Given the description of an element on the screen output the (x, y) to click on. 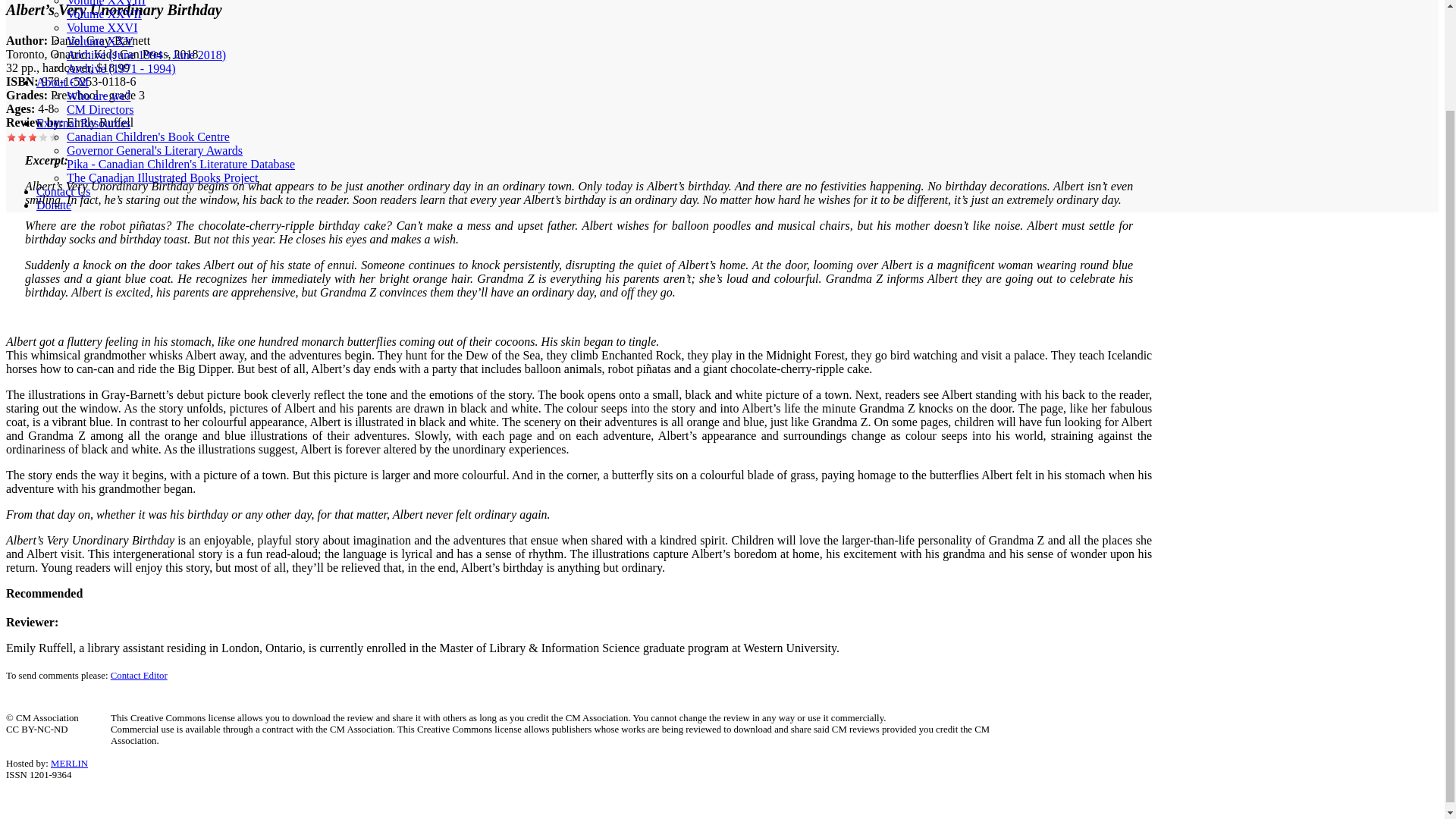
The Canadian Illustrated Books Project (161, 177)
CM Directors (99, 109)
Contact Editor (138, 675)
MERLIN (68, 763)
Governor General's Literary Awards (154, 150)
Contact Us (63, 191)
External Resources (83, 123)
CM archive from 1994 to 2018 (145, 54)
Donate (53, 205)
Volume XXVII (103, 13)
Old CM archive from 1971 to June 1994 (121, 68)
Who are we? (98, 95)
About CM (62, 82)
Pika - Canadian Children's Literature Database (180, 164)
Volume XXV (99, 41)
